Given the description of an element on the screen output the (x, y) to click on. 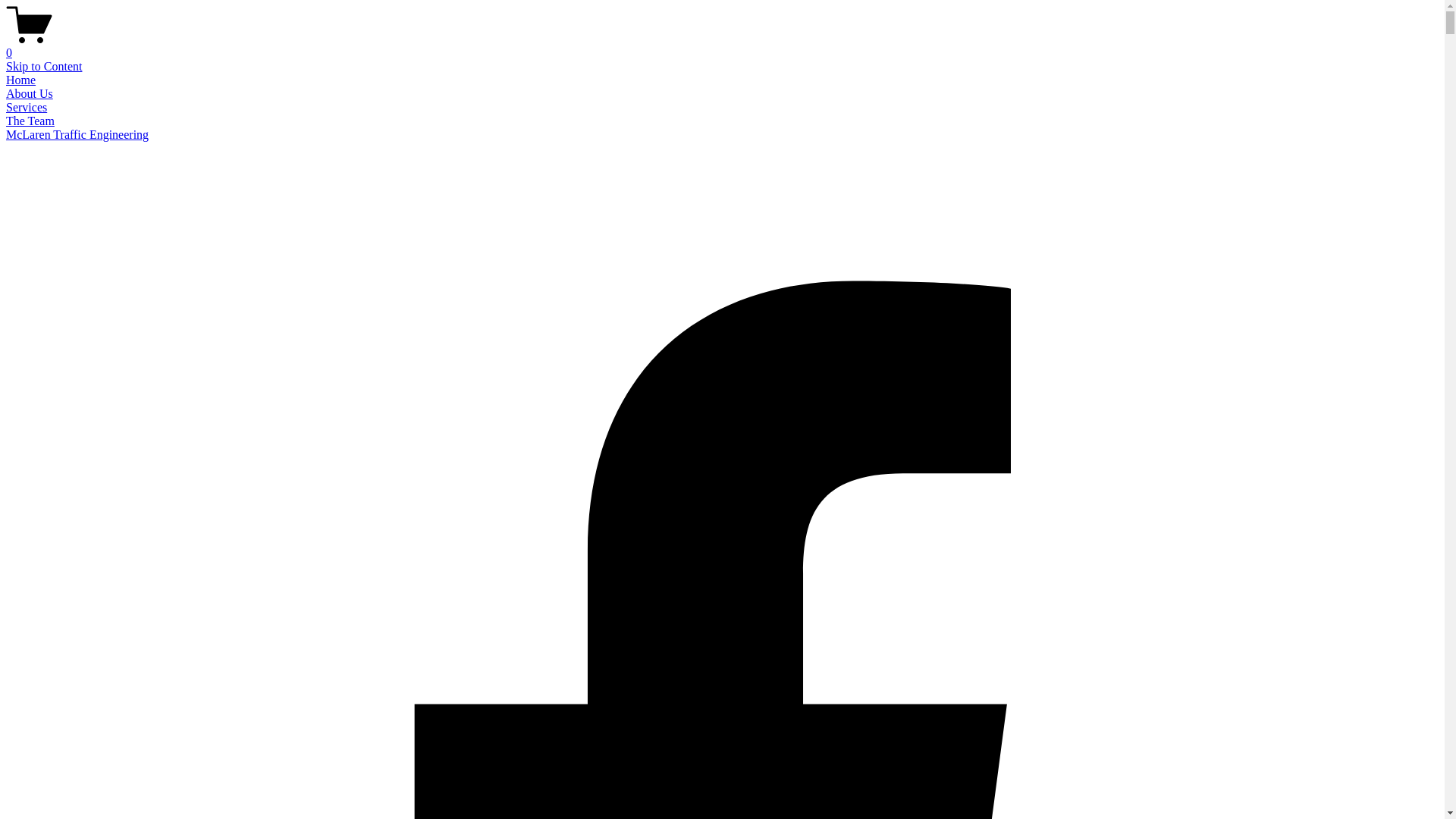
0 Element type: text (722, 45)
About Us Element type: text (29, 93)
Home Element type: text (20, 79)
The Team Element type: text (30, 120)
Skip to Content Element type: text (43, 65)
McLaren Traffic Engineering Element type: text (77, 134)
Services Element type: text (26, 106)
